Given the description of an element on the screen output the (x, y) to click on. 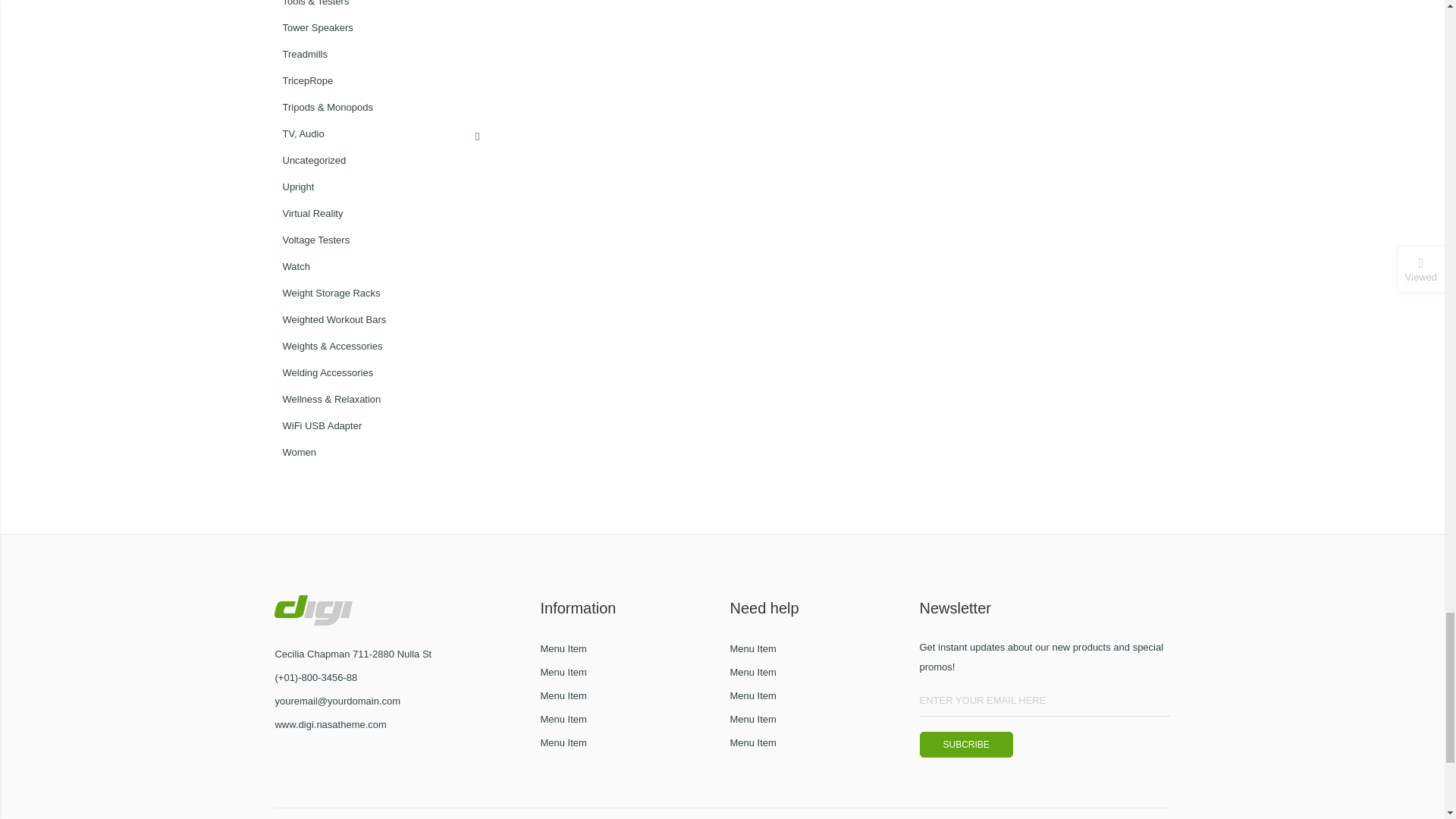
Subcribe (964, 744)
